Given the description of an element on the screen output the (x, y) to click on. 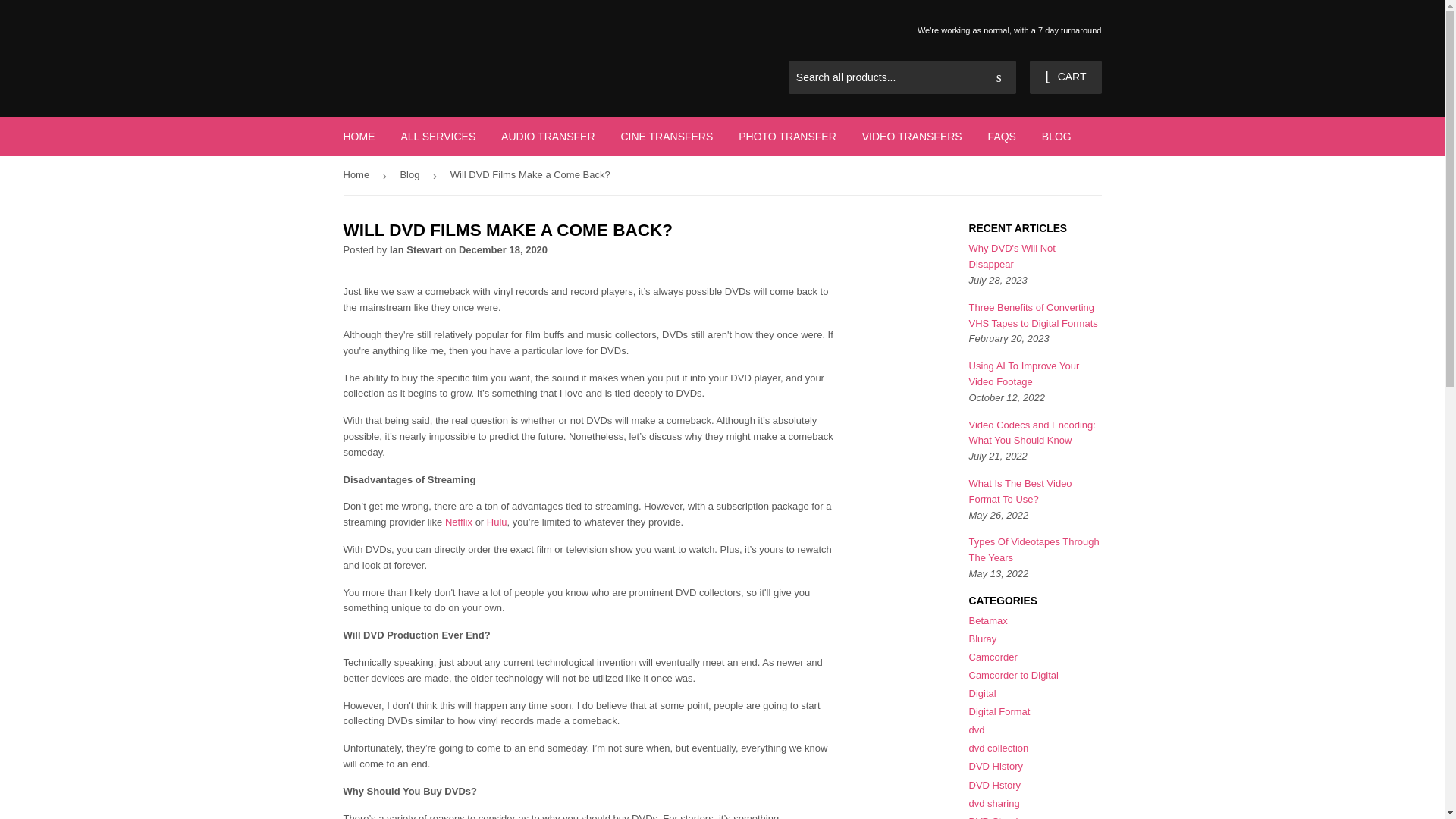
Show articles tagged DVD History (996, 766)
FAQS (1001, 136)
Show articles tagged Digital (982, 693)
Show articles tagged dvd sharing (994, 803)
PHOTO TRANSFER (786, 136)
Search (998, 78)
CINE TRANSFERS (665, 136)
Show articles tagged Camcorder to Digital (1014, 674)
AUDIO TRANSFER (547, 136)
Netflix (458, 521)
Show articles tagged Digital Format (999, 711)
Show articles tagged Bluray (983, 638)
ALL SERVICES (437, 136)
Types Of Videotapes Through The Years (1034, 549)
Video Codecs and Encoding: What You Should Know (1032, 432)
